Given the description of an element on the screen output the (x, y) to click on. 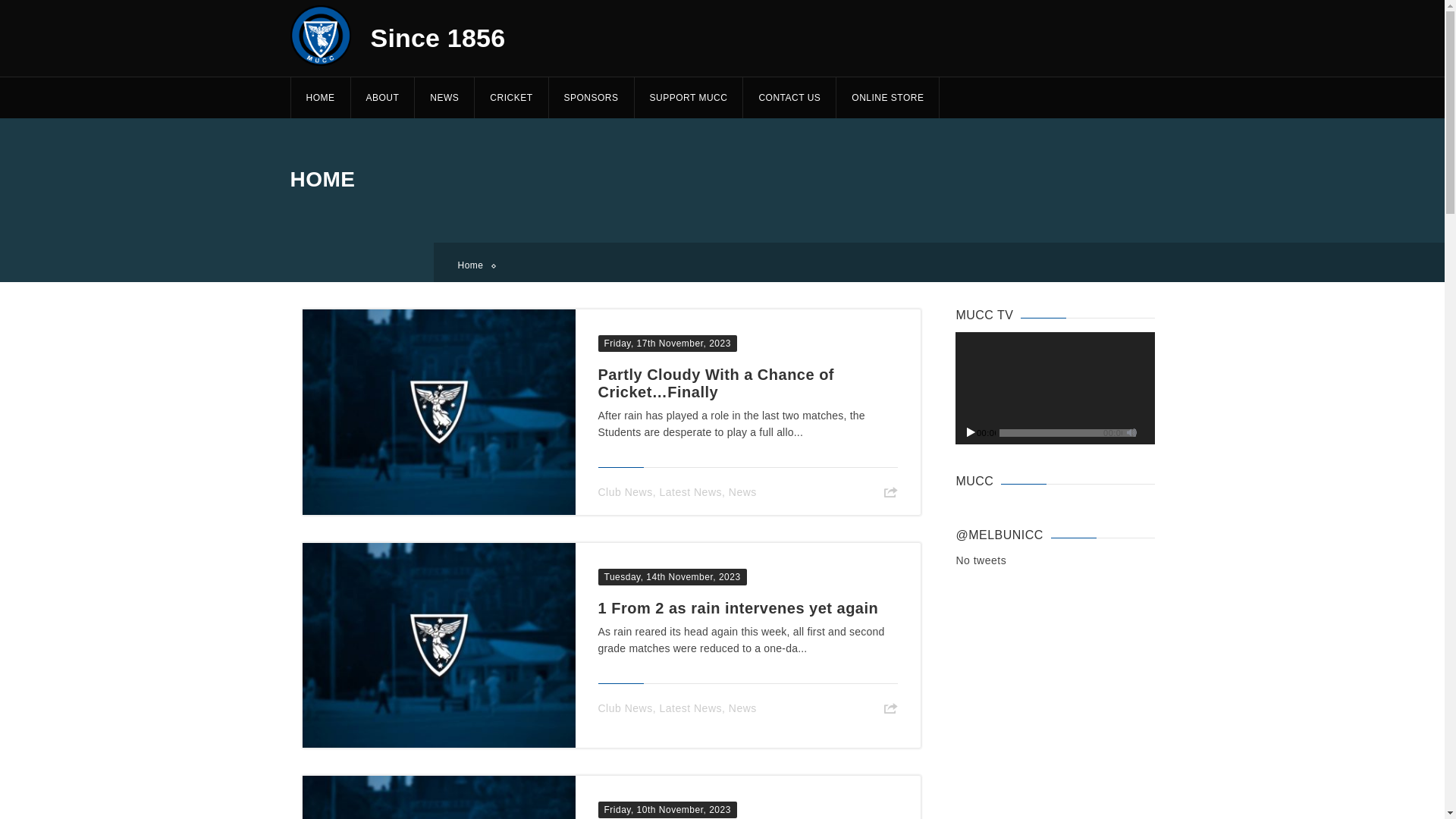
ABOUT Element type: text (382, 97)
Fullscreen Element type: hover (1145, 431)
CONTACT US Element type: text (788, 97)
SUPPORT MUCC Element type: text (688, 97)
SPONSORS Element type: text (590, 97)
NEWS Element type: text (443, 97)
Latest News Element type: text (689, 492)
Club News Element type: text (624, 492)
Play Element type: hover (970, 431)
Mute Element type: hover (1132, 431)
ONLINE STORE Element type: text (887, 97)
Club News Element type: text (624, 708)
Latest News Element type: text (689, 708)
News Element type: text (742, 492)
HOME Element type: text (319, 97)
CRICKET Element type: text (510, 97)
1 From 2 as rain intervenes yet again Element type: text (737, 607)
Home Element type: text (475, 265)
News Element type: text (742, 708)
